Given the description of an element on the screen output the (x, y) to click on. 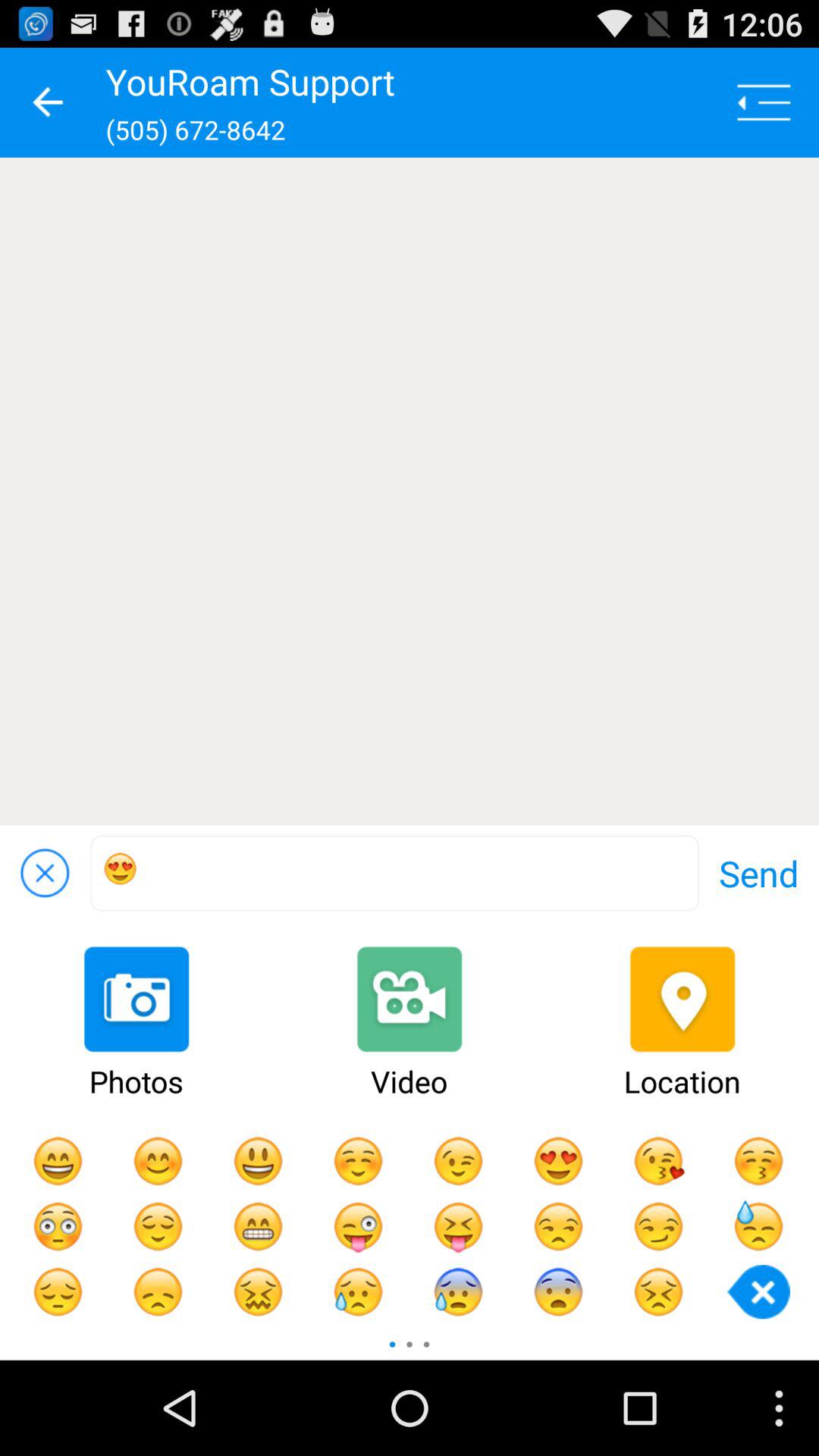
choose icon below (505) 672-8642 (409, 491)
